Given the description of an element on the screen output the (x, y) to click on. 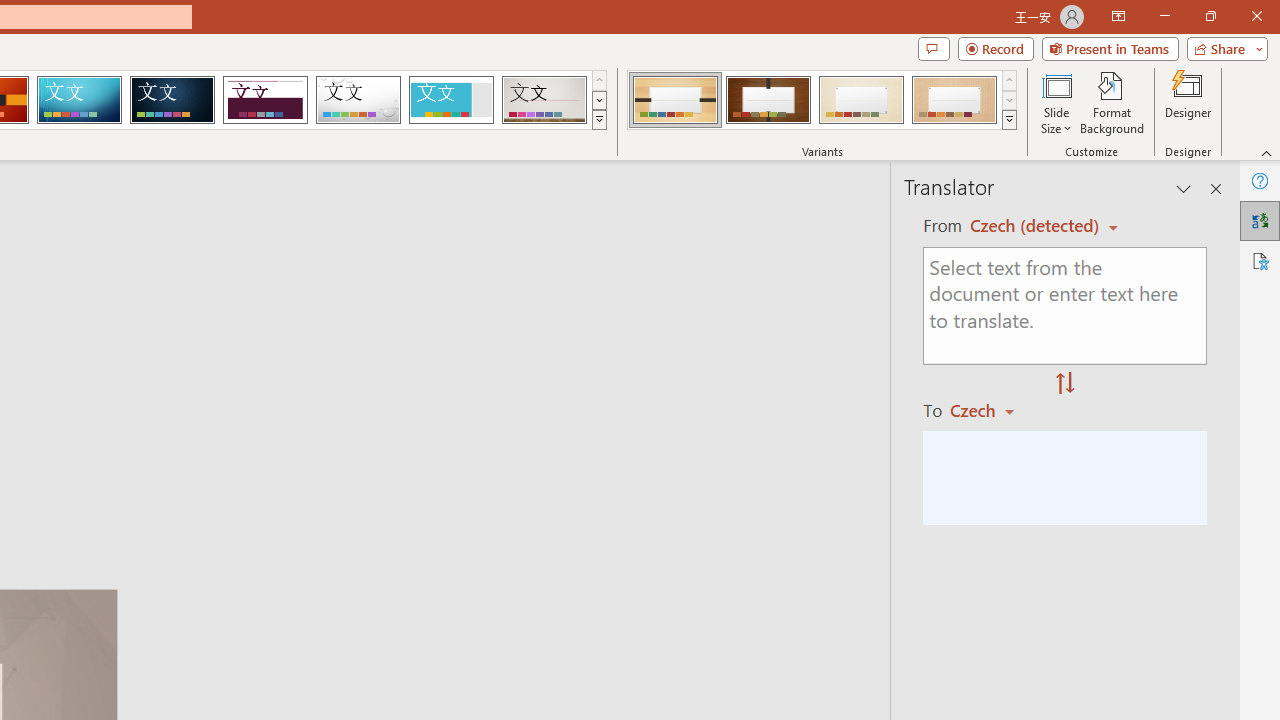
Czech (991, 409)
Circuit (79, 100)
Damask (171, 100)
